Given the description of an element on the screen output the (x, y) to click on. 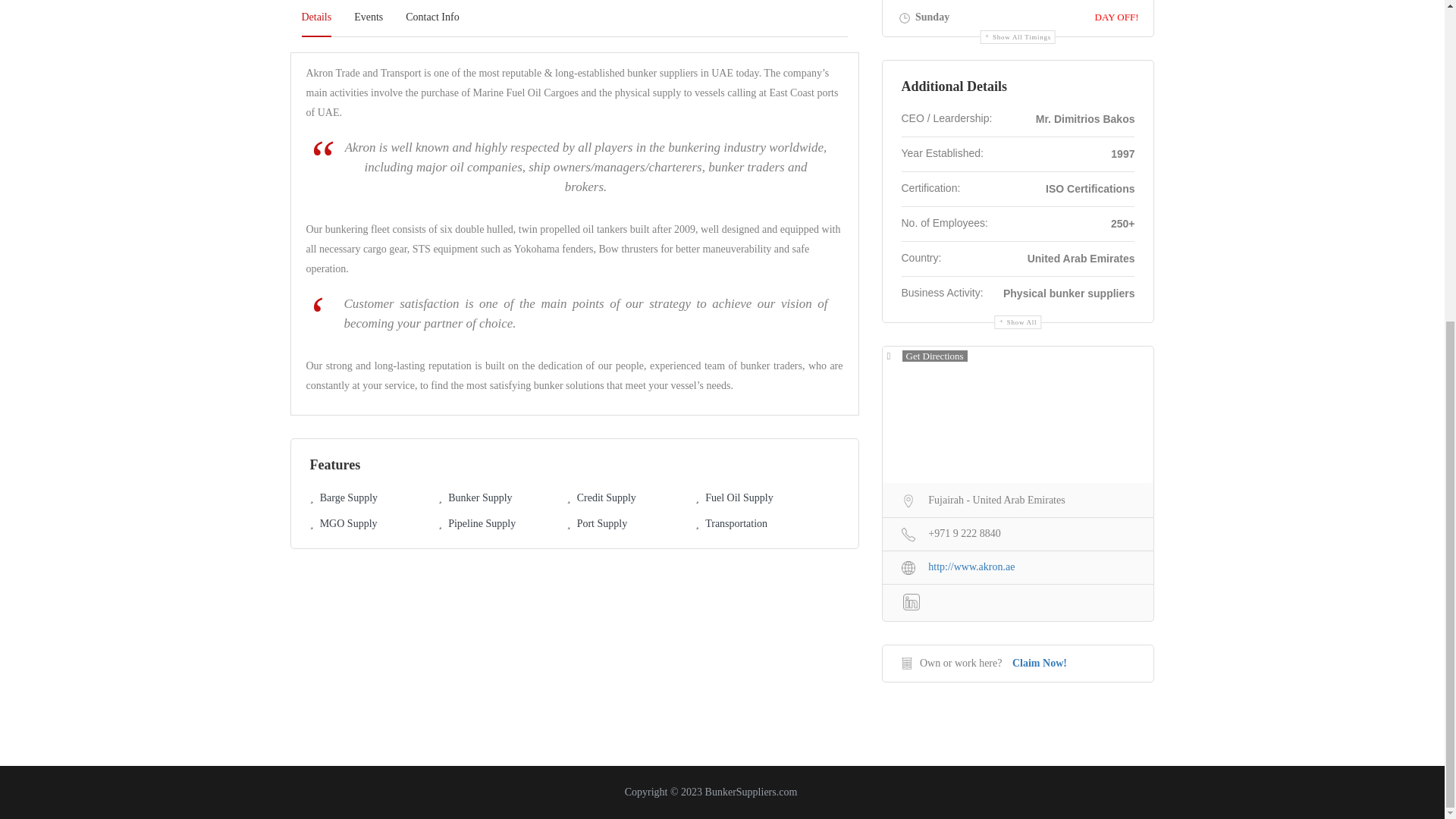
Bunker Supply (475, 497)
Contact Info (432, 18)
Barge Supply (342, 497)
